Given the description of an element on the screen output the (x, y) to click on. 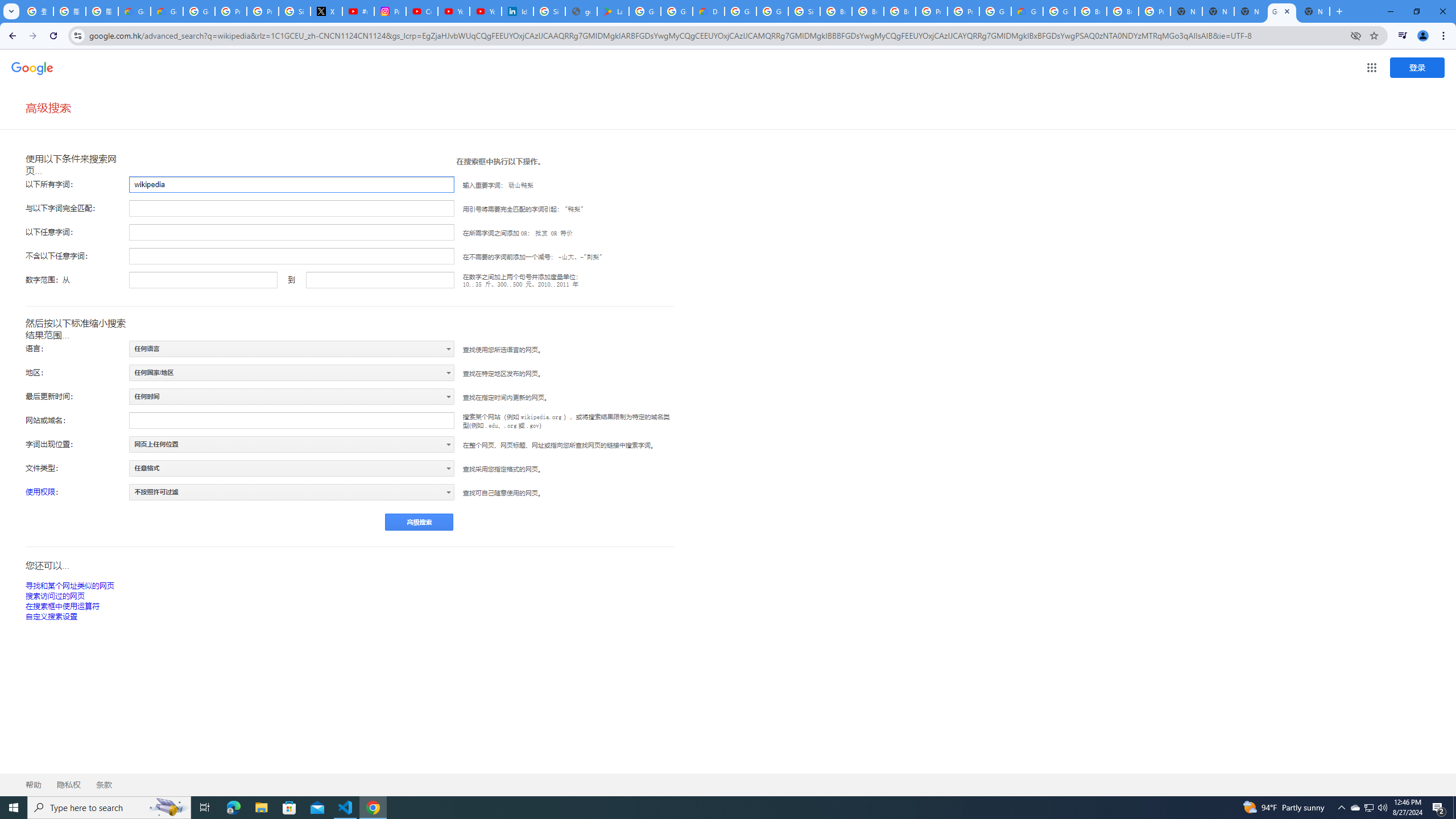
Browse Chrome as a guest - Computer - Google Chrome Help (1091, 11)
